Given the description of an element on the screen output the (x, y) to click on. 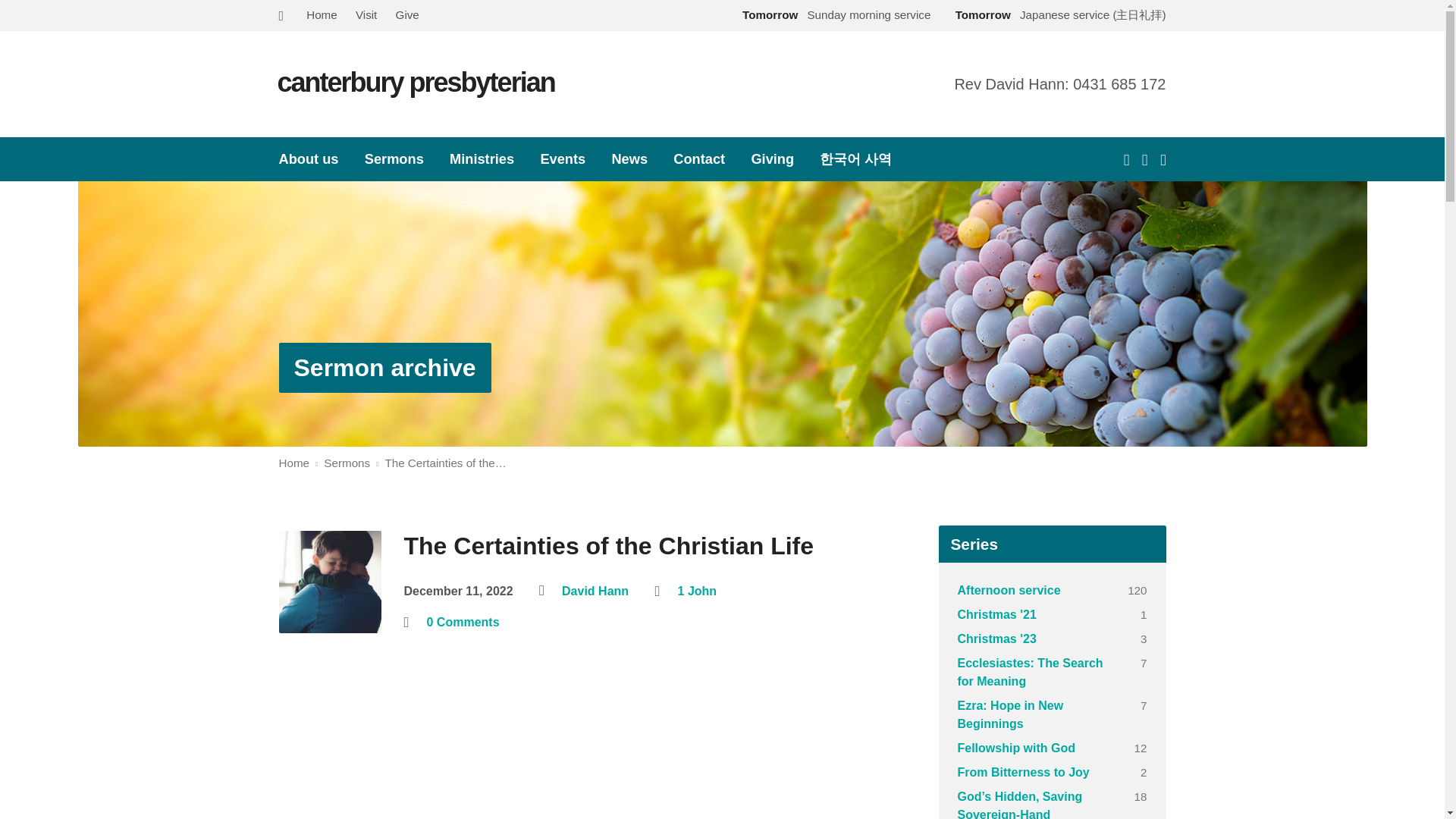
Visit (366, 14)
About us (309, 159)
0 Comments (462, 621)
Home (321, 14)
canterbury presbyterian (416, 81)
Giving (772, 159)
Sermon archive (385, 367)
Events (562, 159)
News (629, 159)
Sunday morning service (833, 14)
Tomorrow Sunday morning service (833, 14)
Contact (698, 159)
Sermons (394, 159)
Ministries (481, 159)
Give (407, 14)
